Given the description of an element on the screen output the (x, y) to click on. 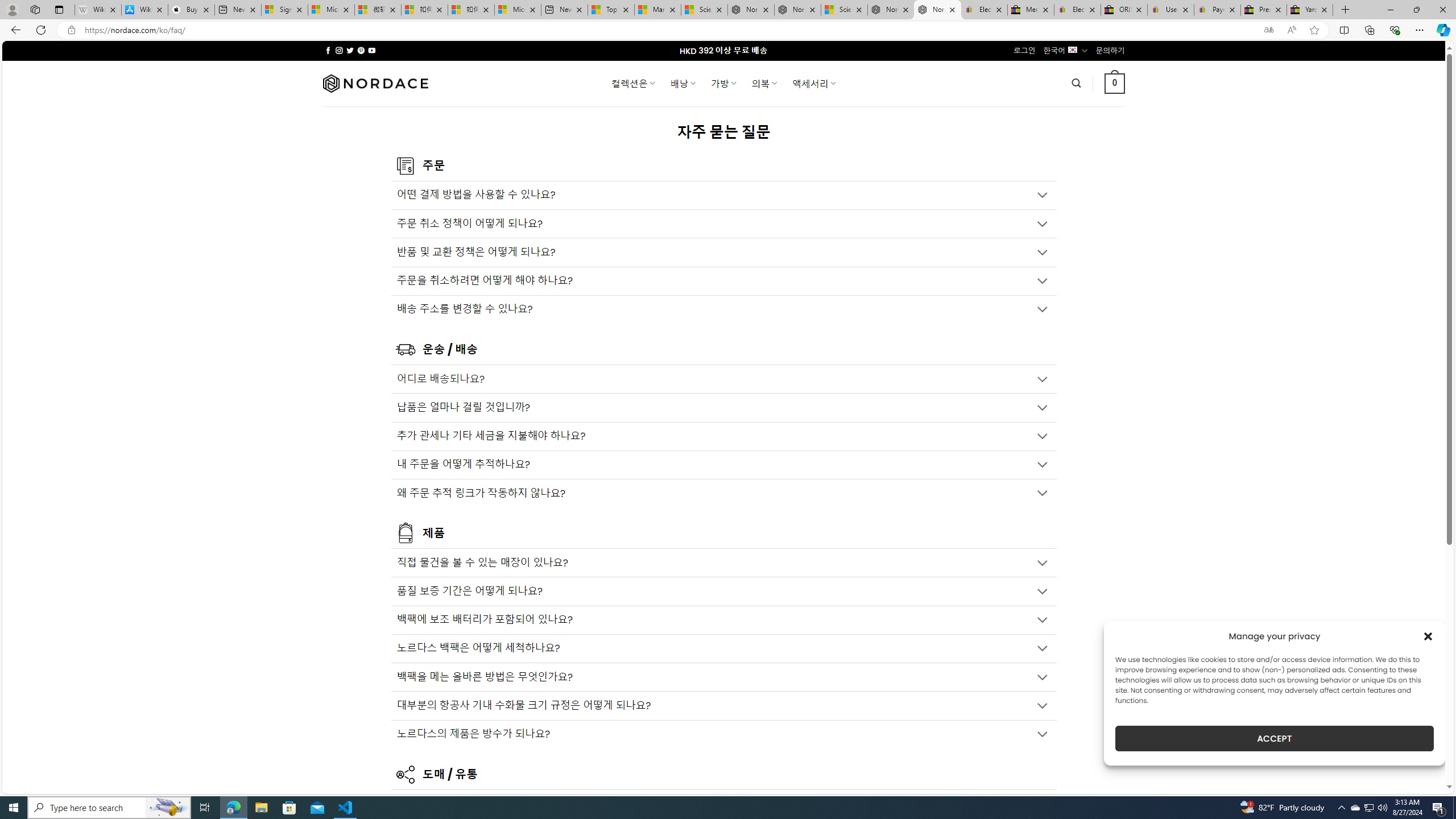
Follow on Instagram (338, 50)
  0   (1115, 83)
